Given the description of an element on the screen output the (x, y) to click on. 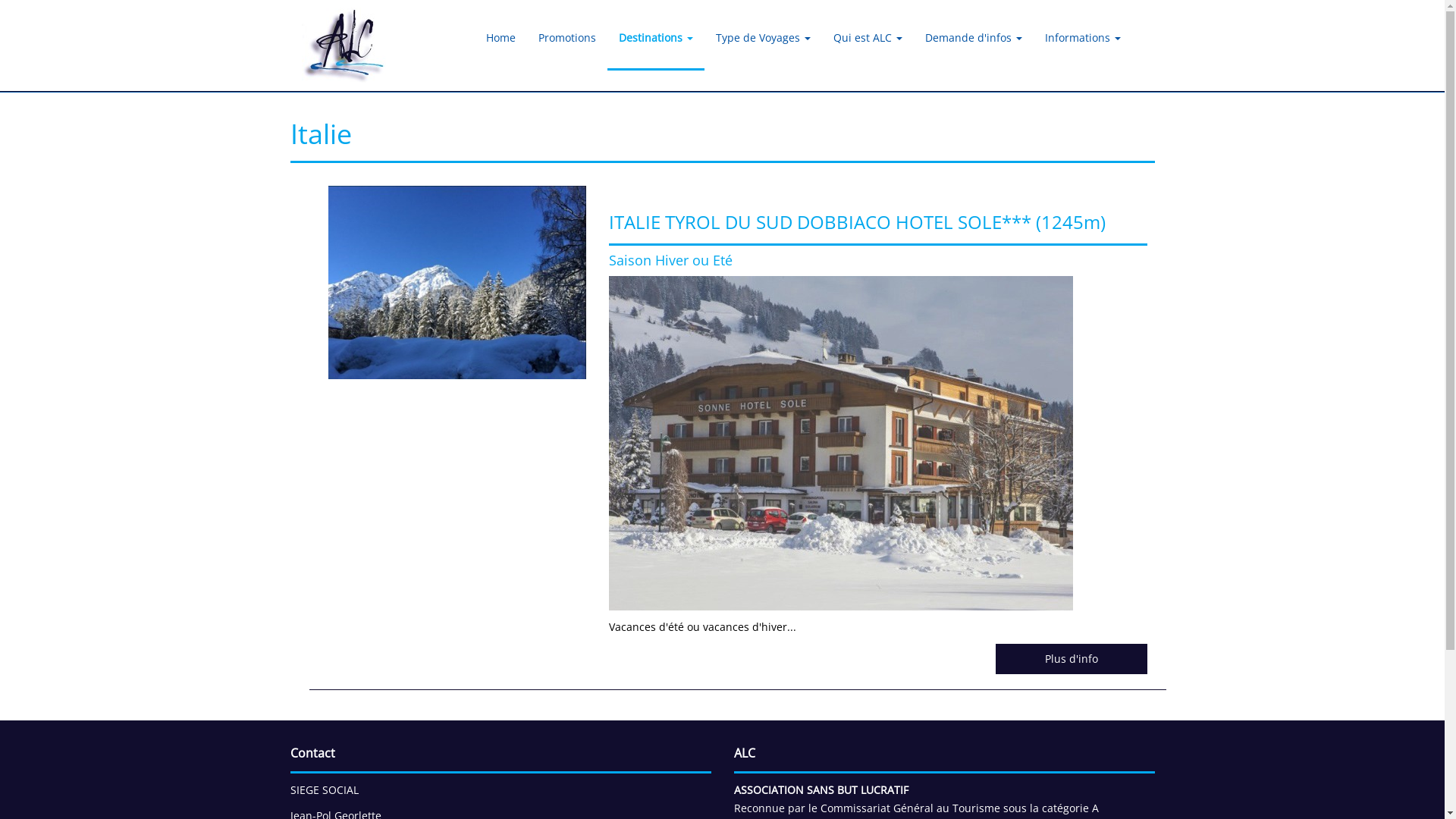
Plus d'info Element type: text (1070, 658)
Informations Element type: text (1081, 37)
Qui est ALC Element type: text (867, 37)
Demande d'infos Element type: text (972, 37)
Home Element type: text (500, 37)
Type de Voyages Element type: text (762, 37)
Promotions Element type: text (566, 37)
Destinations Element type: text (654, 37)
